Given the description of an element on the screen output the (x, y) to click on. 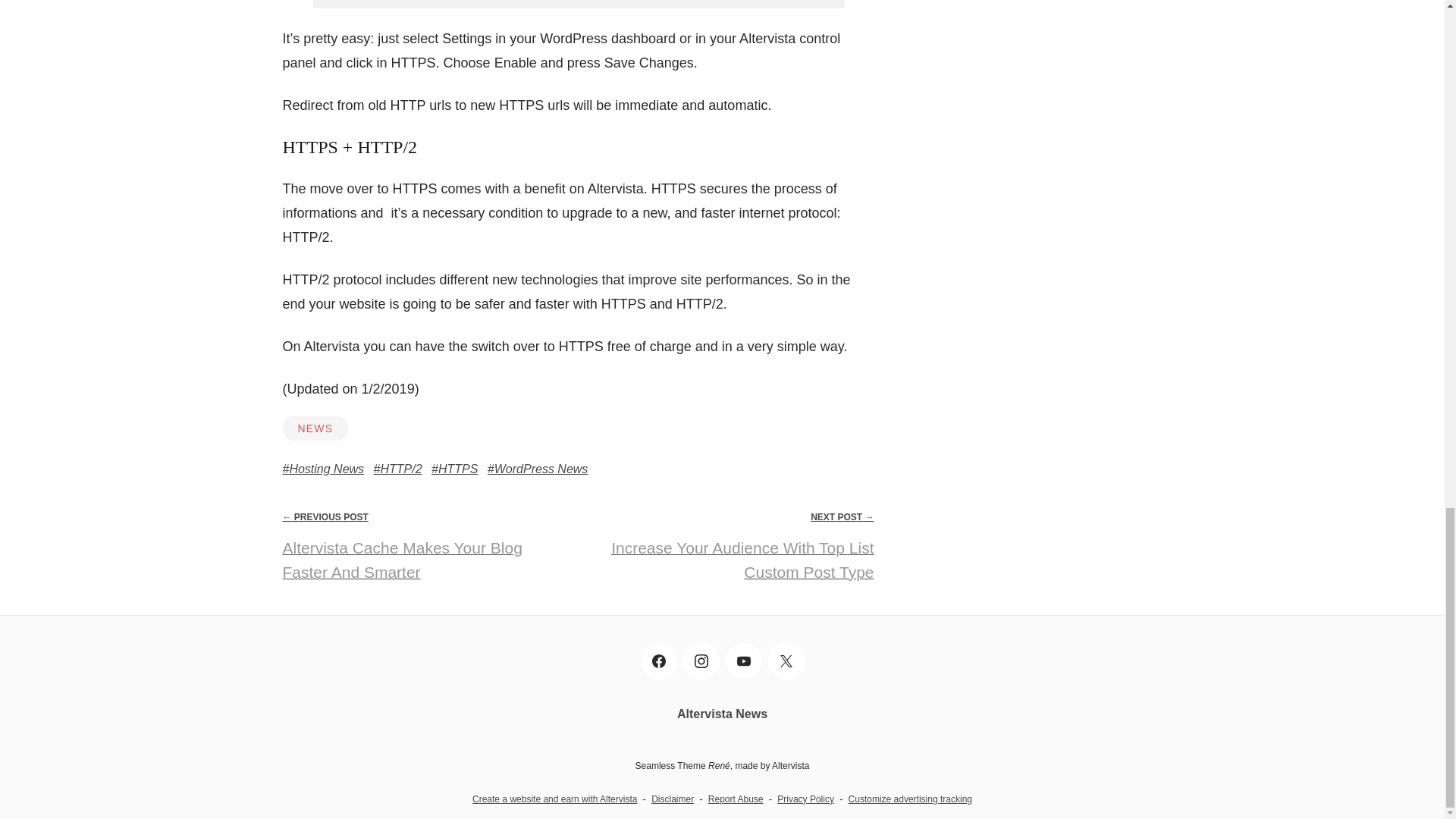
Twitter (785, 660)
Create a website for free and earn from it (554, 799)
HTTPS (453, 468)
WordPress News (537, 468)
Instagram (700, 660)
Hosting News (323, 468)
Facebook (658, 660)
Report Abuse (735, 799)
Customize advertising tracking (910, 799)
NEWS (314, 428)
